Given the description of an element on the screen output the (x, y) to click on. 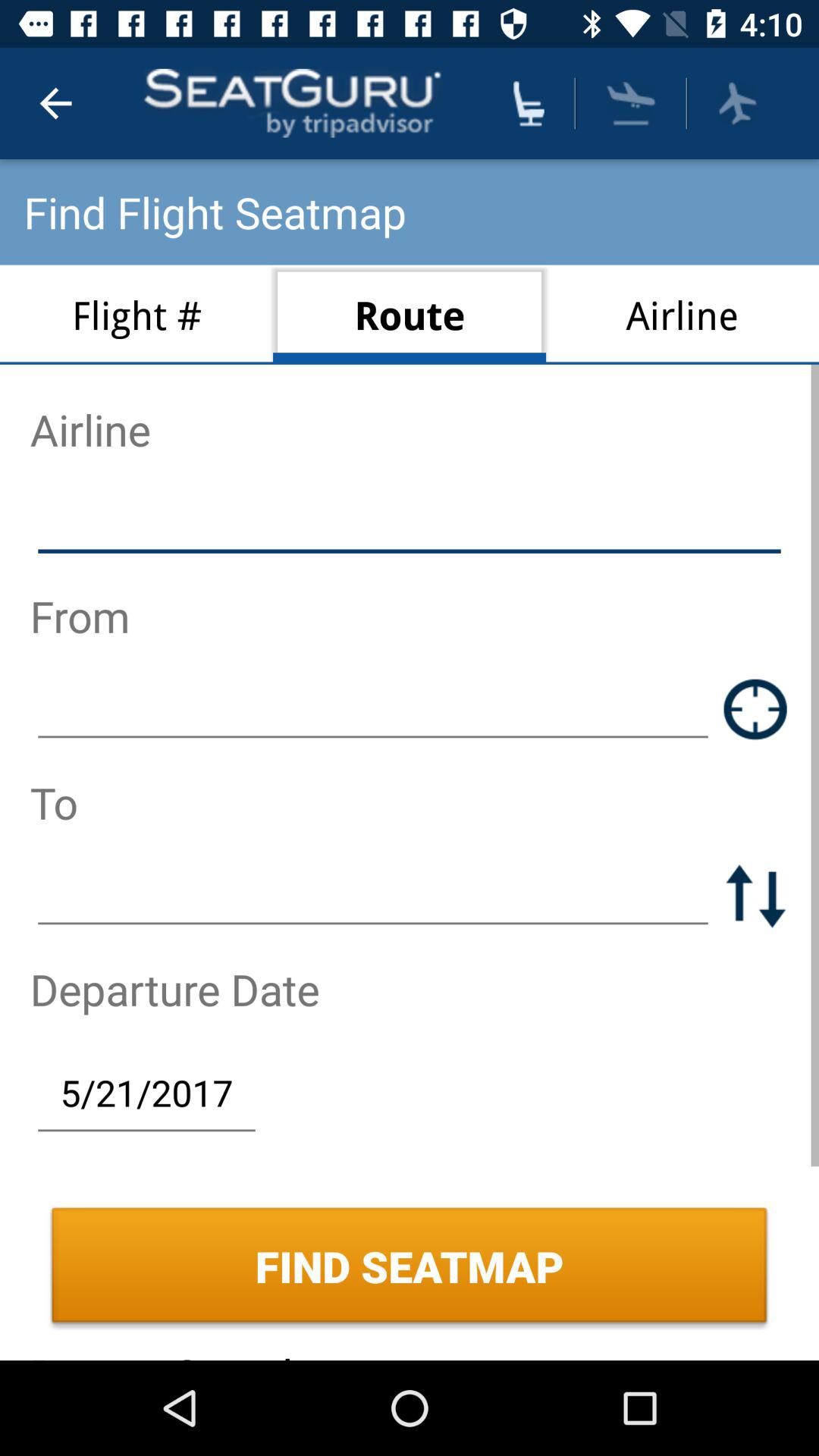
open icon below departure date item (146, 1092)
